Given the description of an element on the screen output the (x, y) to click on. 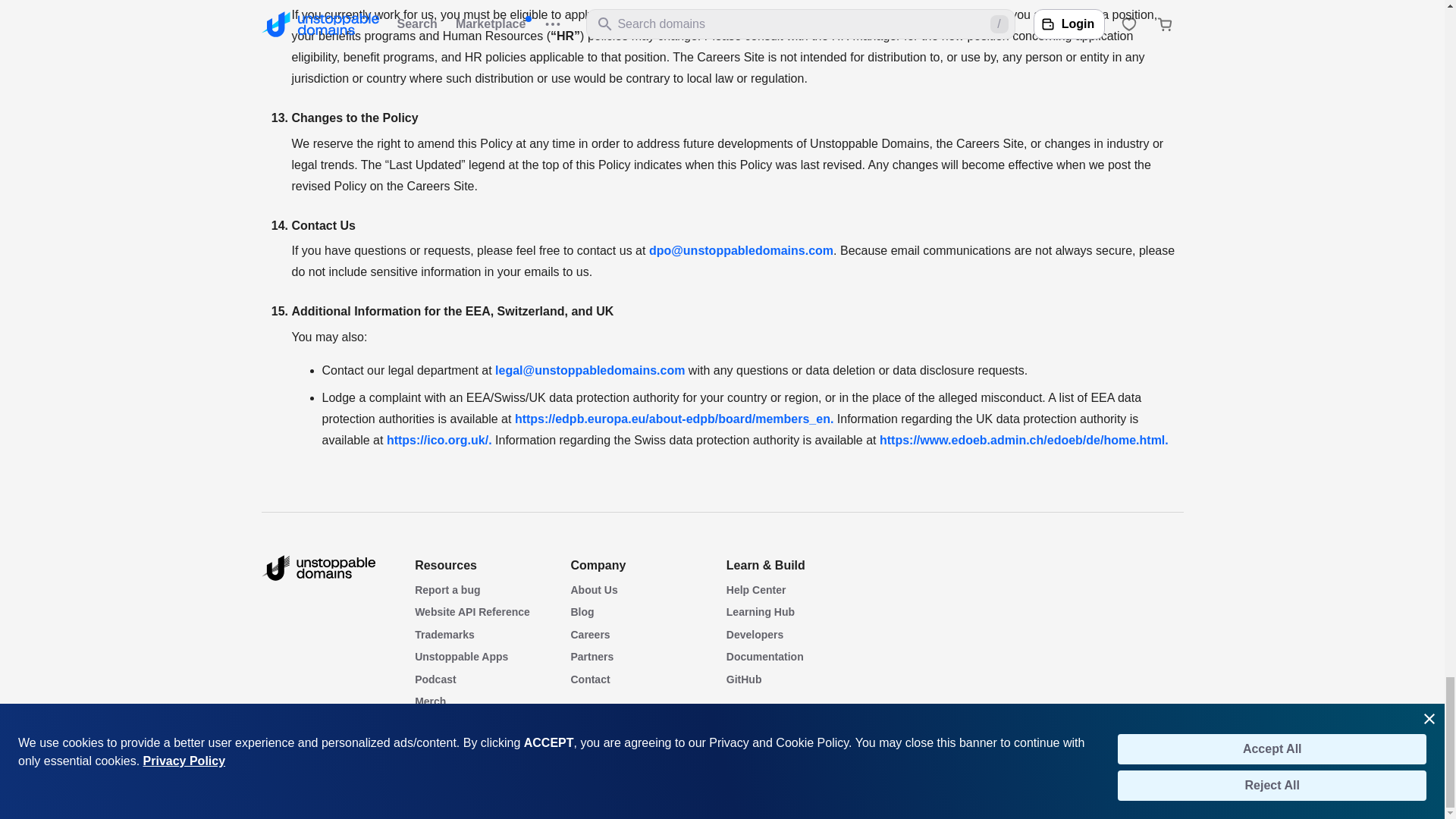
Blog (582, 612)
Contact (590, 679)
Careers (590, 634)
Help Center (756, 589)
Documentation (764, 656)
Report a bug (447, 589)
Website API Reference (471, 612)
Developers (754, 634)
Merch (429, 701)
GitHub (743, 679)
Partners (591, 656)
Unstoppable Apps (461, 656)
Trademarks (444, 634)
Podcast (434, 679)
About Us (593, 589)
